Given the description of an element on the screen output the (x, y) to click on. 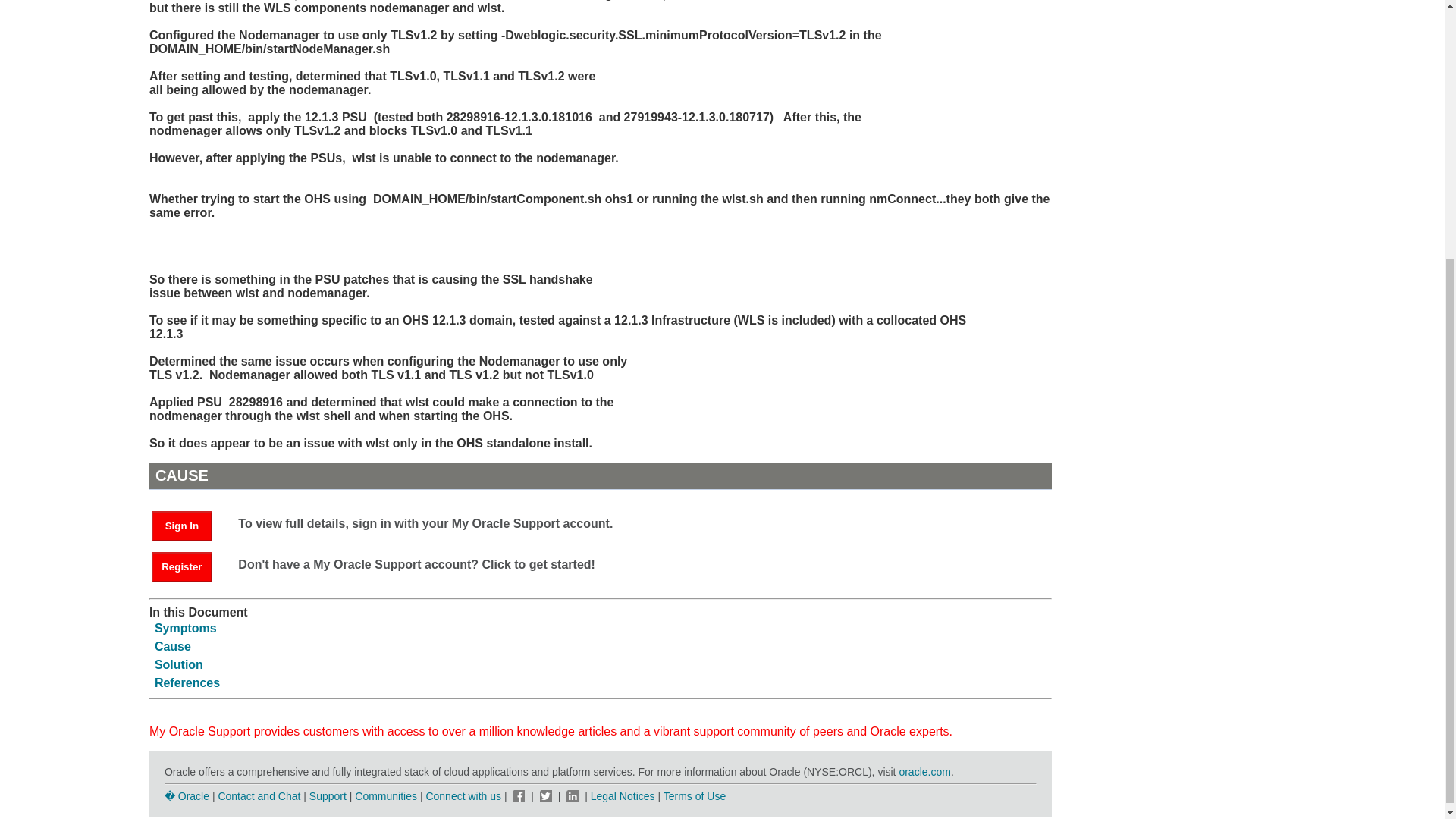
Legal Notices (623, 796)
Register (181, 567)
Cause (172, 645)
References (186, 682)
Solution (178, 664)
Communities (385, 796)
Terms of Use (694, 796)
Sign In (181, 526)
oracle.com (924, 771)
Support (327, 796)
